Given the description of an element on the screen output the (x, y) to click on. 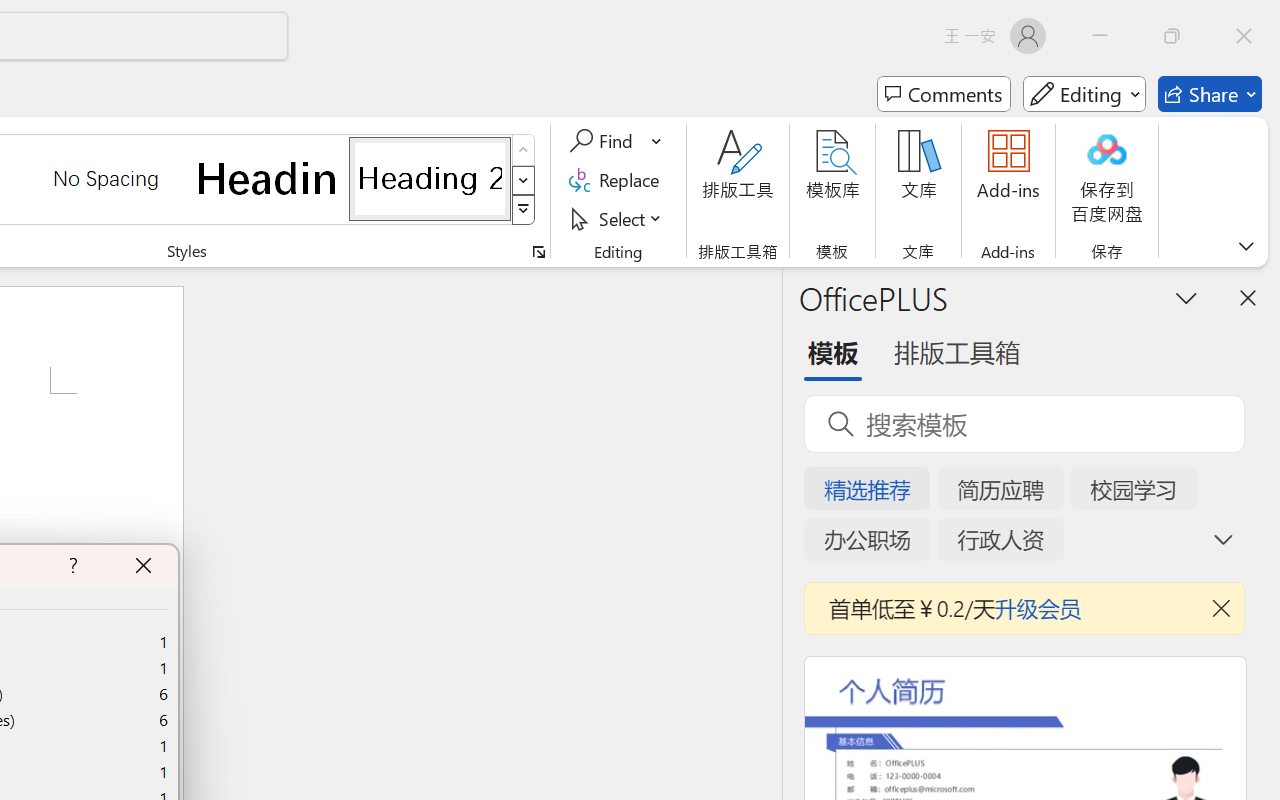
Close (1244, 36)
Heading 1 (267, 178)
Row up (523, 150)
Find (604, 141)
Class: NetUIImage (523, 210)
Replace... (617, 179)
Mode (1083, 94)
Ribbon Display Options (1246, 245)
Styles (523, 209)
